Given the description of an element on the screen output the (x, y) to click on. 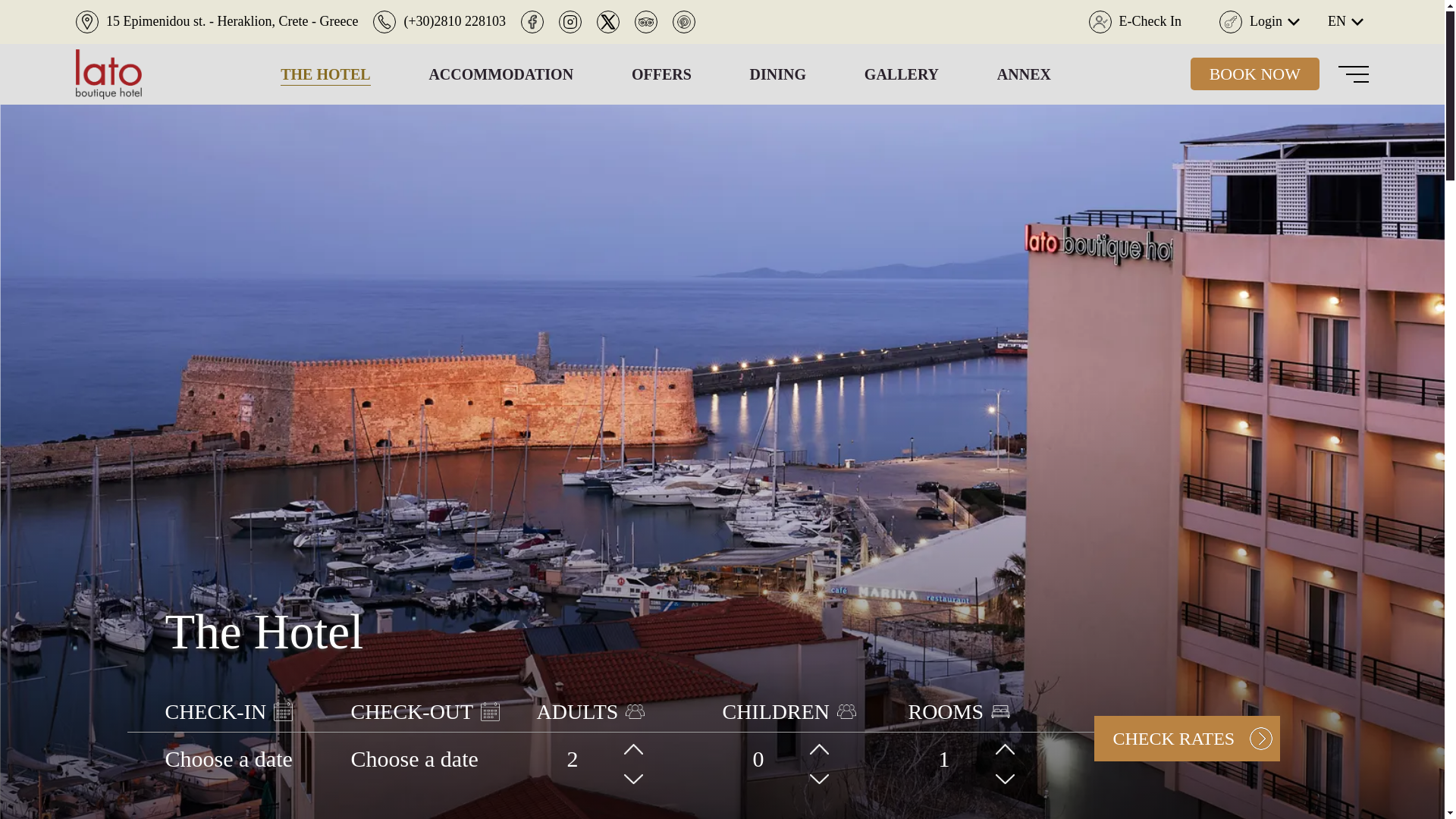
DINING (777, 74)
Logo (108, 74)
check rates (1186, 738)
Instagram (569, 21)
EN (1347, 21)
15 Epimenidou st. - Heraklion, Crete - Greece (216, 21)
2 (605, 759)
Facebook (532, 21)
Login (1262, 21)
1 (976, 759)
